Given the description of an element on the screen output the (x, y) to click on. 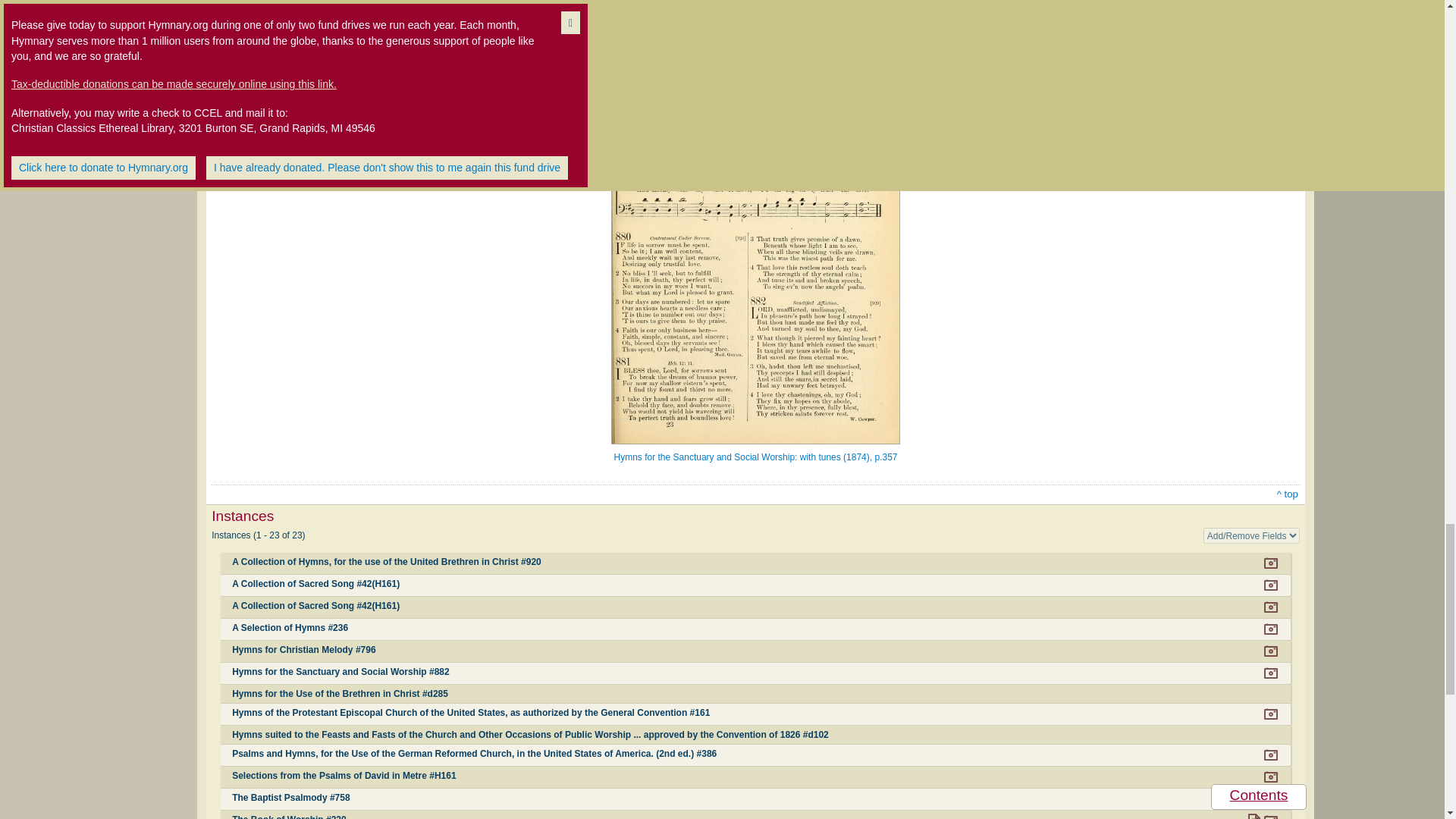
Page Scan (1270, 563)
